Given the description of an element on the screen output the (x, y) to click on. 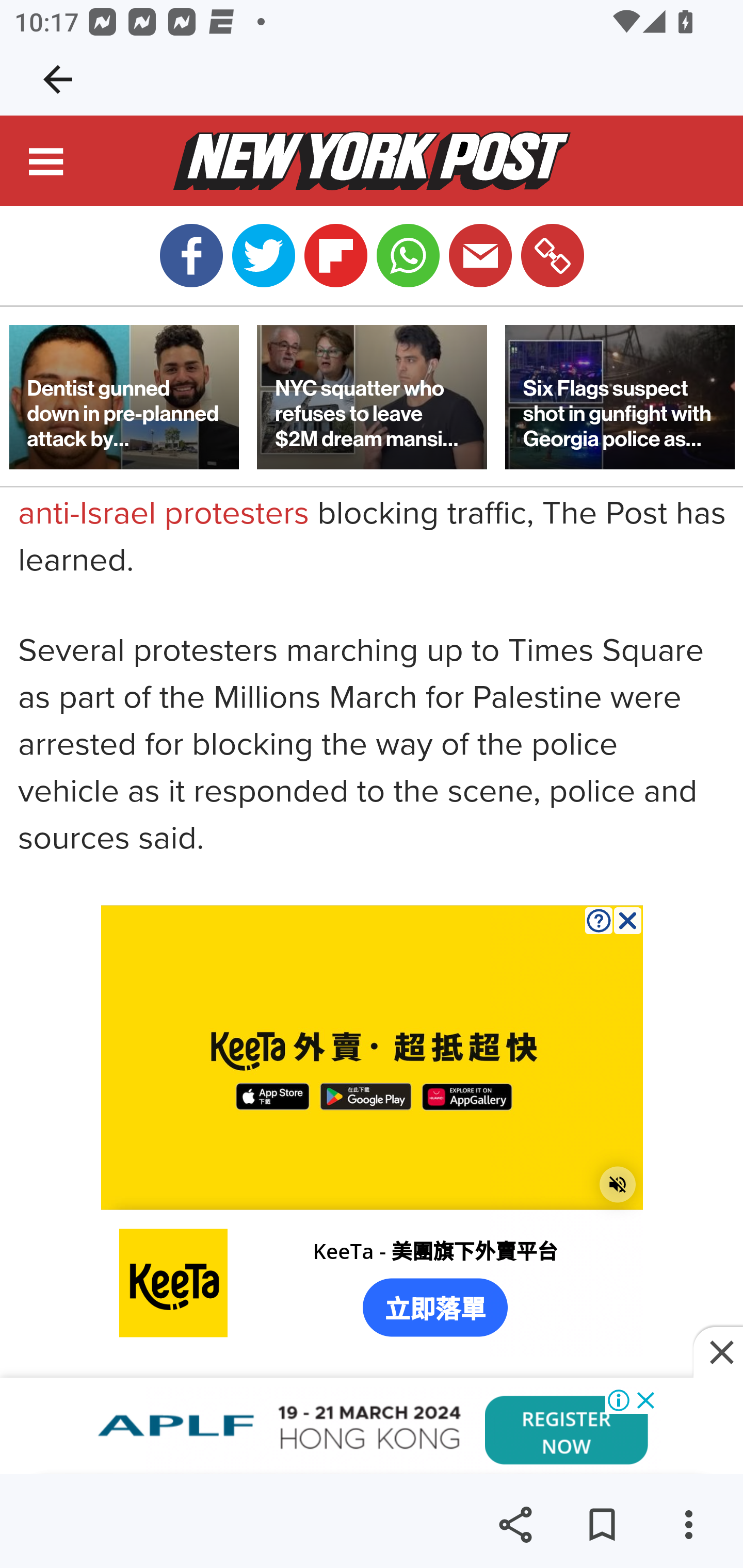
Navigate up (57, 79)
nypost (371, 161)
navigation menu (46, 165)
Click to share on Facebook (191, 256)
Click to share on Twitter (263, 256)
Click to share on Flipboard (335, 256)
Click to share on Whatsapp (407, 256)
Click to email a link to a friend (480, 256)
Click to copy URL (552, 256)
due to anti-Israel protesters (338, 492)
Close this ad (718, 1352)
Share (514, 1524)
Save for later (601, 1524)
More options (688, 1524)
